Given the description of an element on the screen output the (x, y) to click on. 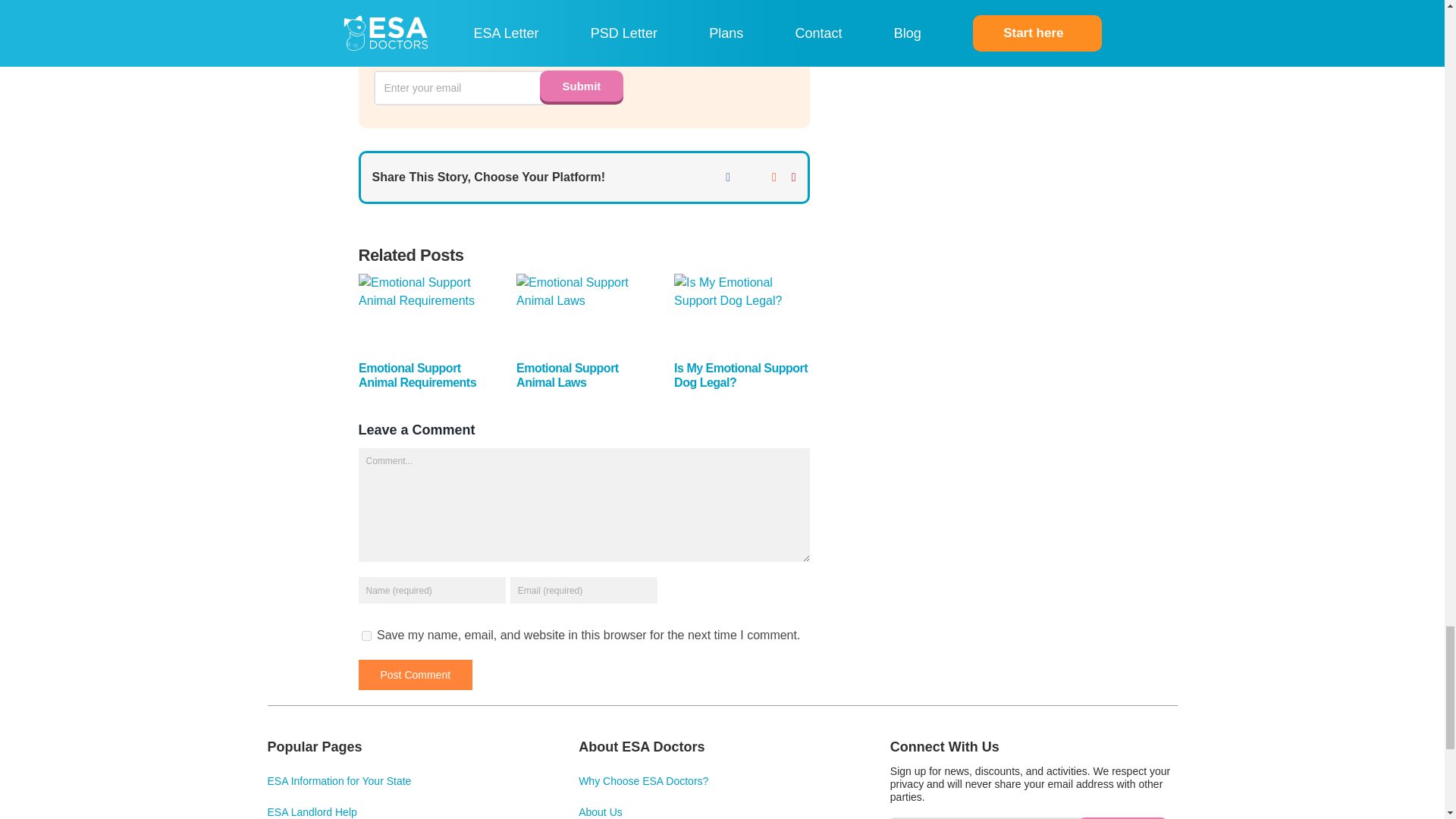
yes (366, 635)
Submit (1123, 818)
Post Comment (414, 675)
Submit (581, 85)
X (751, 177)
